Given the description of an element on the screen output the (x, y) to click on. 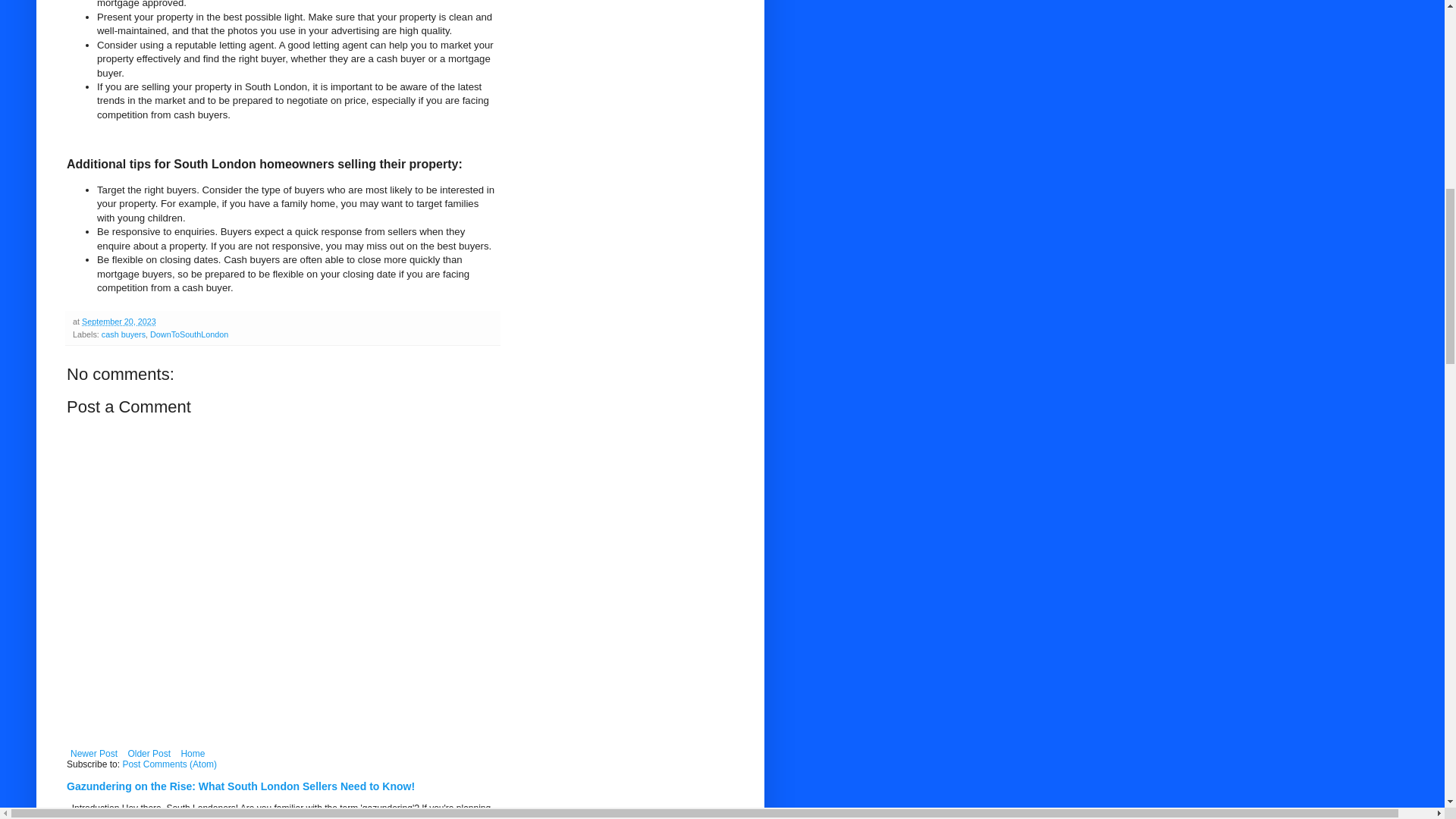
DownToSouthLondon (188, 334)
Newer Post (93, 753)
Older Post (148, 753)
Older Post (148, 753)
Home (192, 753)
Newer Post (93, 753)
cash buyers (123, 334)
permanent link (118, 320)
September 20, 2023 (118, 320)
Email Post (164, 320)
